Given the description of an element on the screen output the (x, y) to click on. 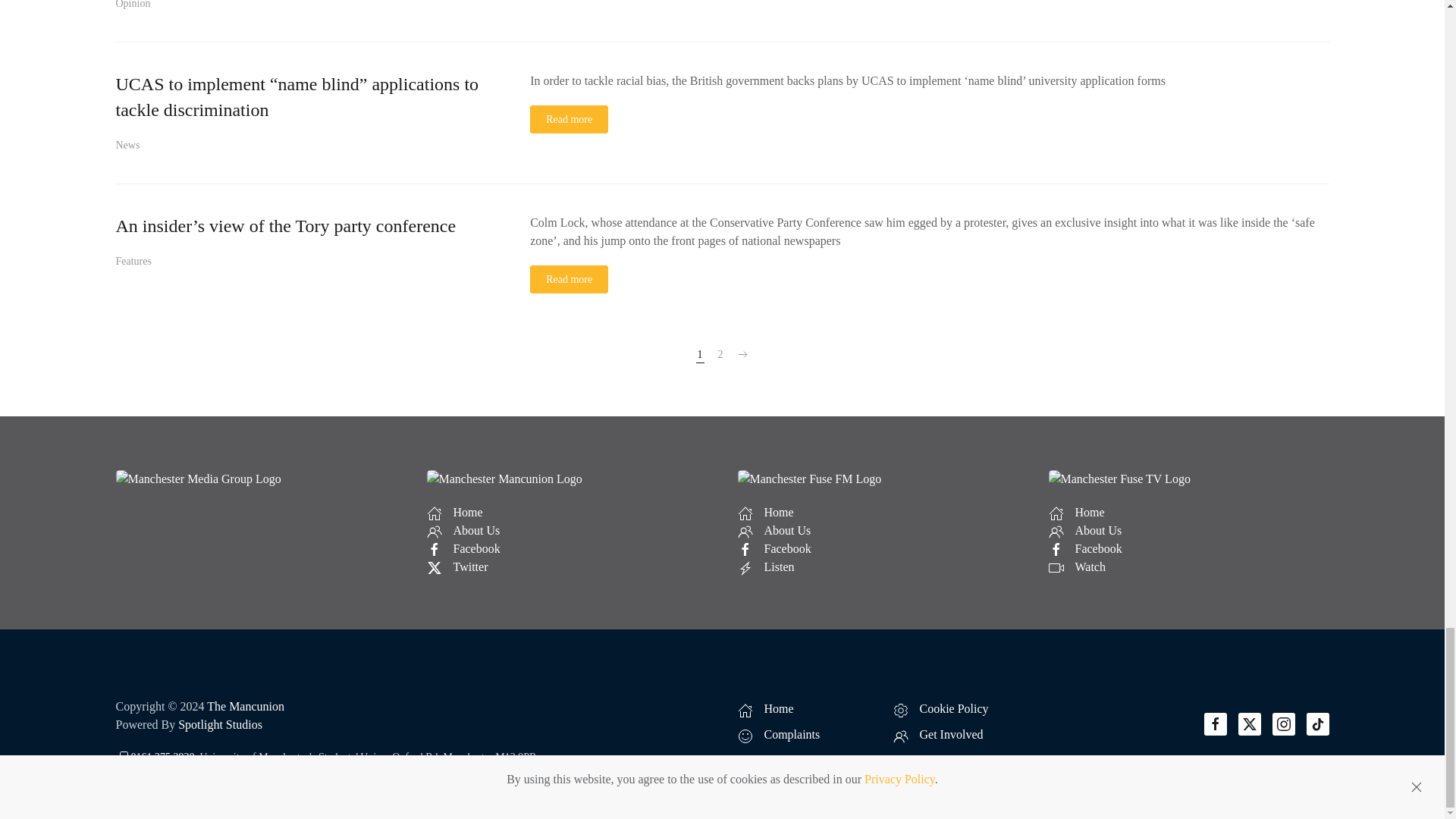
Web Design by Spotlight Studios (219, 724)
The Mancunion (244, 706)
